Given the description of an element on the screen output the (x, y) to click on. 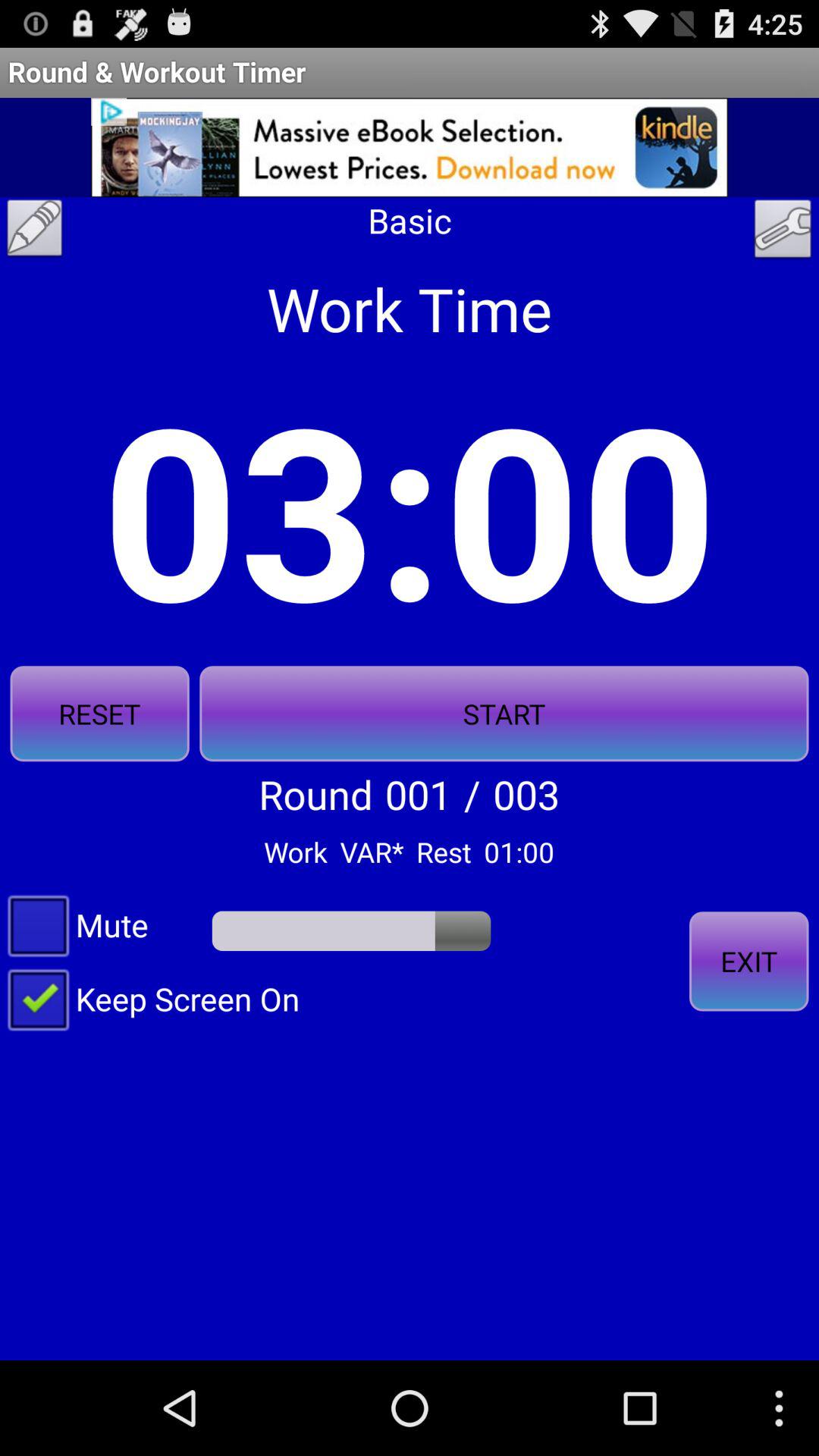
launch the app above basic icon (409, 147)
